Given the description of an element on the screen output the (x, y) to click on. 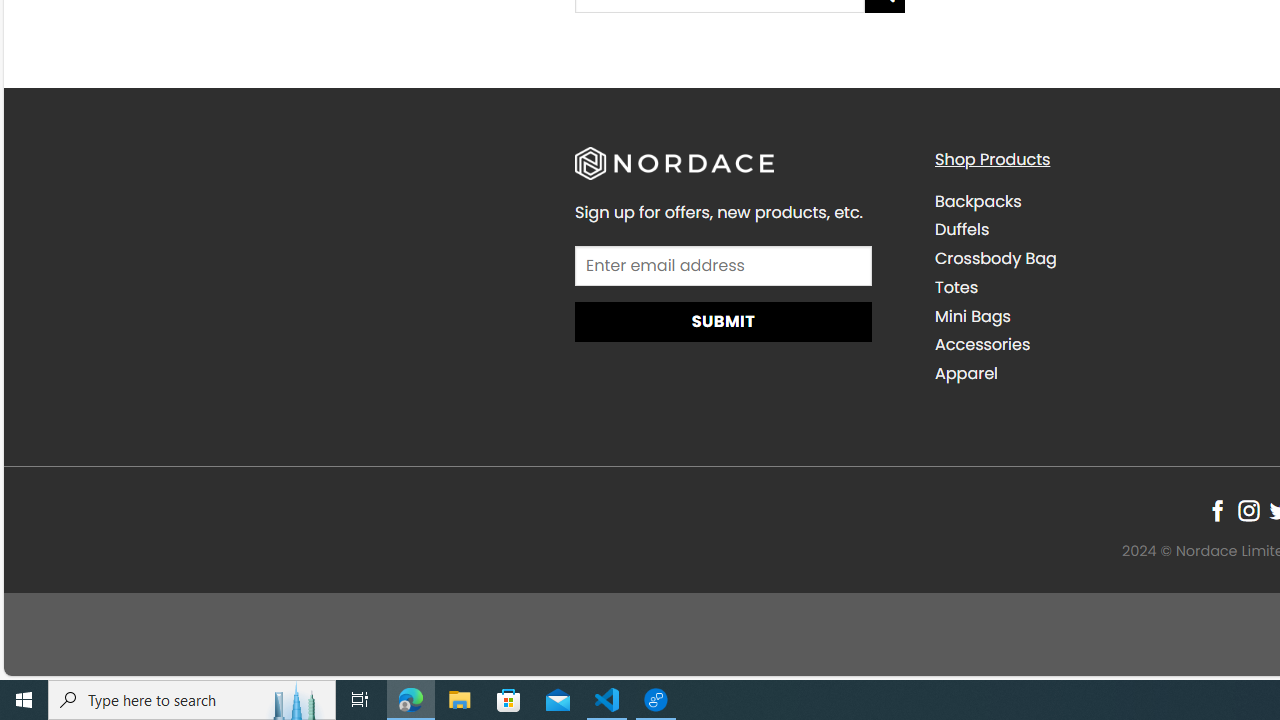
Follow on Instagram (1248, 511)
Mini Bags (1099, 316)
Totes (955, 286)
Apparel (1099, 373)
